Given the description of an element on the screen output the (x, y) to click on. 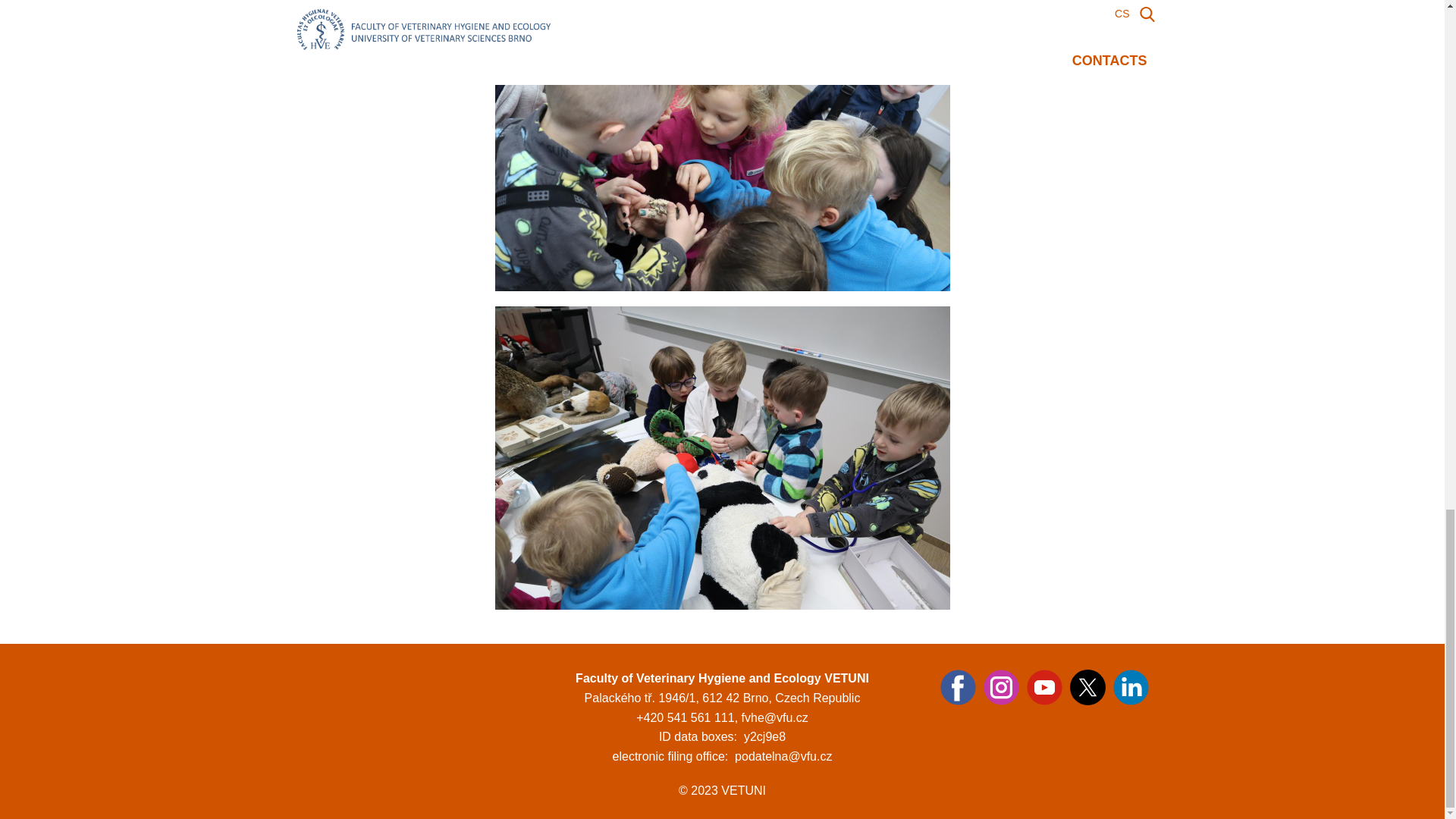
X (1086, 687)
facebook (957, 687)
instagram (999, 687)
LinkedIn (1130, 687)
YouTube (1044, 687)
